Given the description of an element on the screen output the (x, y) to click on. 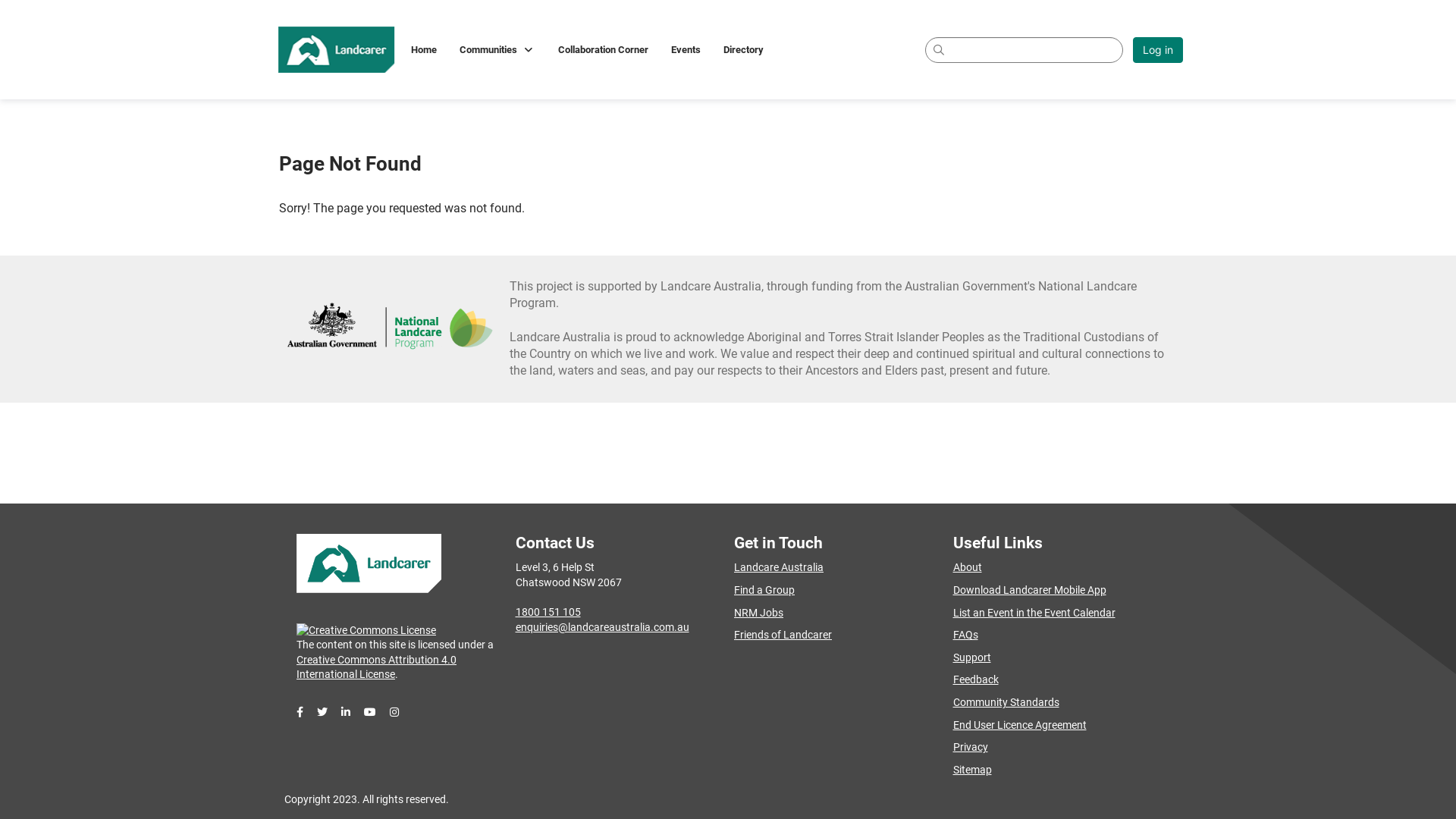
Creative Commons Attribution 4.0 International License Element type: text (376, 666)
Community Standards Element type: text (1005, 702)
enquiries@landcareaustralia.com.au Element type: text (602, 627)
Feedback Element type: text (974, 679)
Sitemap Element type: text (971, 769)
List an Event in the Event Calendar Element type: text (1033, 612)
Home Element type: text (423, 48)
Landcare Australia Element type: text (778, 567)
End User Licence Agreement Element type: text (1018, 724)
1800 151 105 Element type: text (547, 611)
FAQs Element type: text (964, 634)
Collaboration Corner Element type: text (602, 48)
Friends of Landcarer Element type: text (782, 634)
Support Element type: text (971, 657)
Directory Element type: text (743, 48)
Communities Element type: text (497, 48)
About Element type: text (966, 567)
Find a Group Element type: text (764, 589)
search Element type: hover (1024, 49)
Download Landcarer Mobile App Element type: text (1028, 589)
Privacy Element type: text (969, 746)
Log in Element type: text (1157, 49)
Events Element type: text (685, 48)
NRM Jobs Element type: text (758, 612)
